Given the description of an element on the screen output the (x, y) to click on. 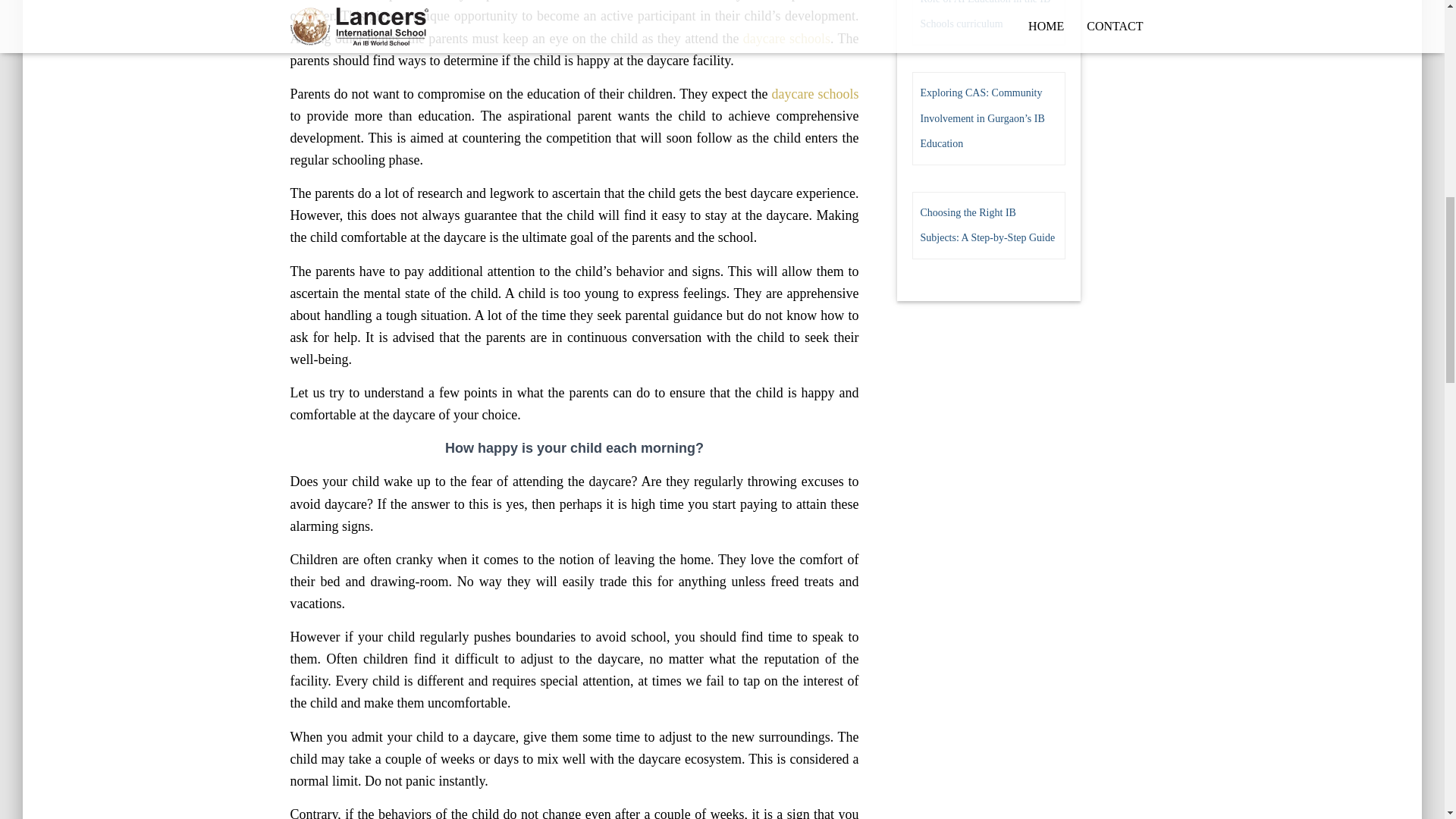
Choosing the Right IB Subjects: A Step-by-Step Guide (987, 225)
daycare schools (785, 38)
Role of AI Education in the IB Schools curriculum (985, 15)
daycare schools (815, 93)
